Given the description of an element on the screen output the (x, y) to click on. 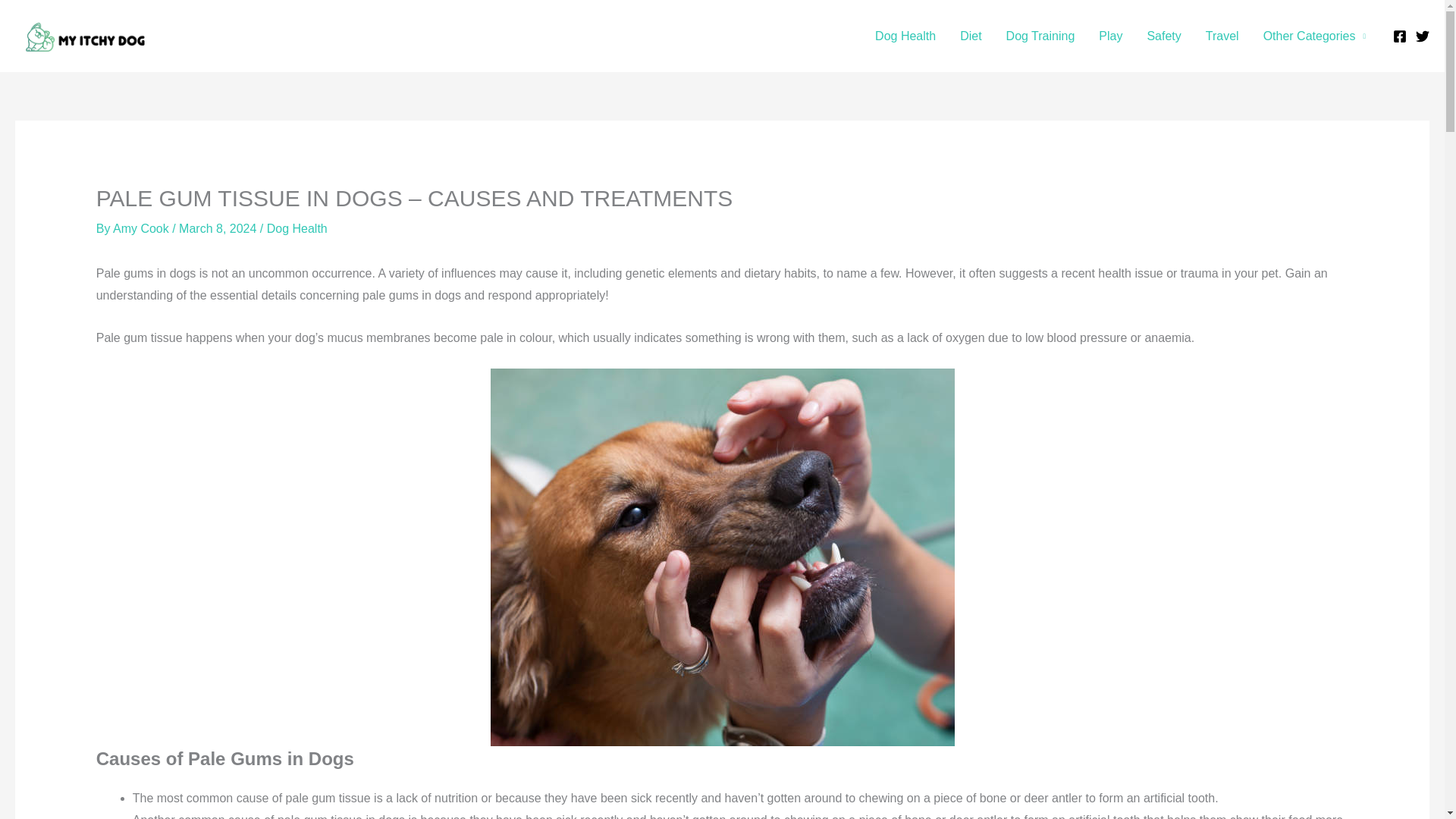
Dog Health (905, 35)
Play (1110, 35)
Other Categories (1313, 35)
Dog Health (296, 228)
Travel (1221, 35)
Amy Cook (142, 228)
View all posts by Amy Cook (142, 228)
Dog Training (1040, 35)
Safety (1163, 35)
